Given the description of an element on the screen output the (x, y) to click on. 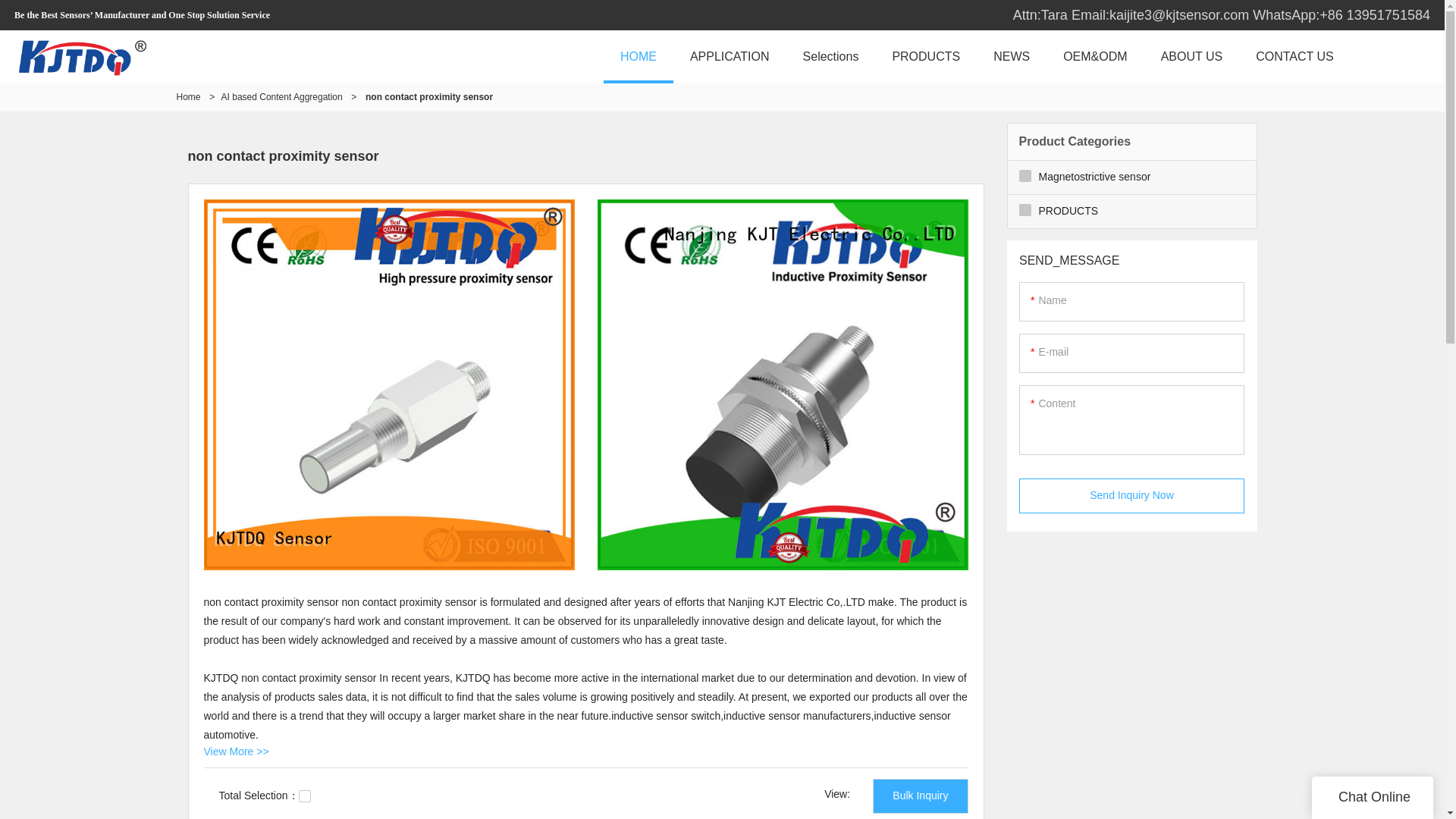
APPLICATION (729, 56)
on (304, 796)
NEWS (1011, 56)
PRODUCTS (925, 56)
AI based Content Aggregation (281, 96)
ABOUT US (1192, 56)
Selections (831, 56)
CONTACT US (1295, 56)
Home (188, 96)
HOME (638, 56)
